Given the description of an element on the screen output the (x, y) to click on. 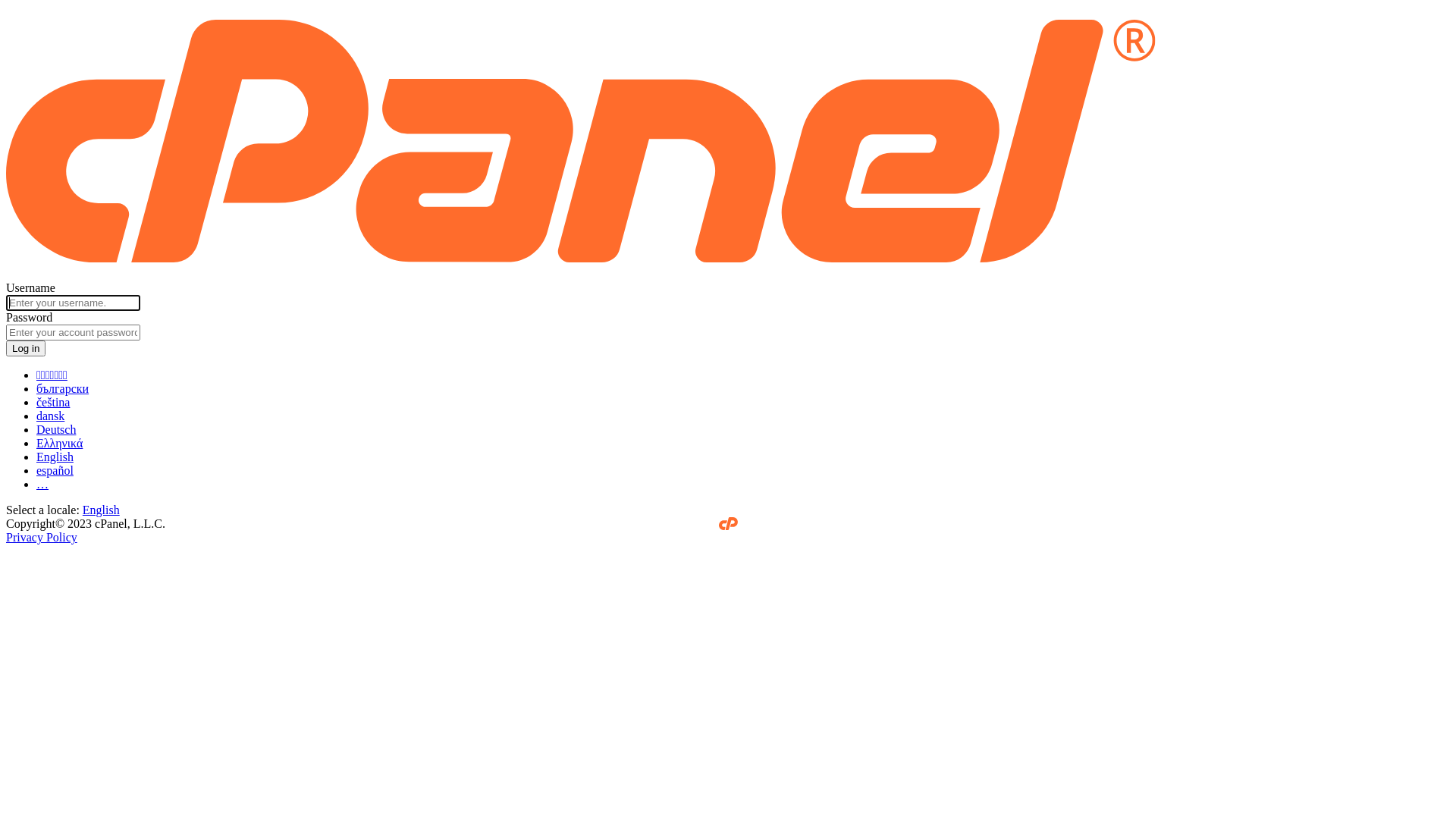
English Element type: text (54, 456)
Privacy Policy Element type: text (41, 536)
English Element type: text (100, 509)
dansk Element type: text (50, 415)
Log in Element type: text (25, 348)
Deutsch Element type: text (55, 429)
